Given the description of an element on the screen output the (x, y) to click on. 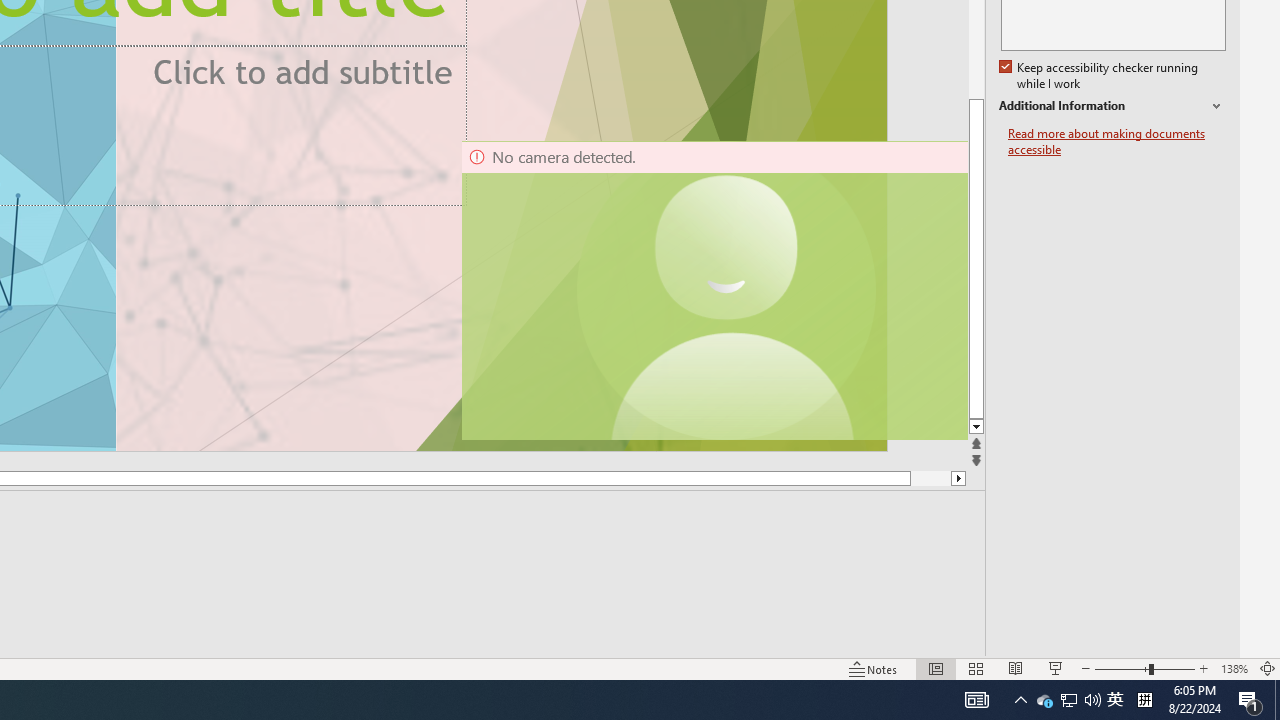
Camera 14, No camera detected. (713, 290)
Camera 11, No camera detected. (727, 290)
Keep accessibility checker running while I work (1099, 76)
Read more about making documents accessible (1117, 142)
Additional Information (1112, 106)
